Given the description of an element on the screen output the (x, y) to click on. 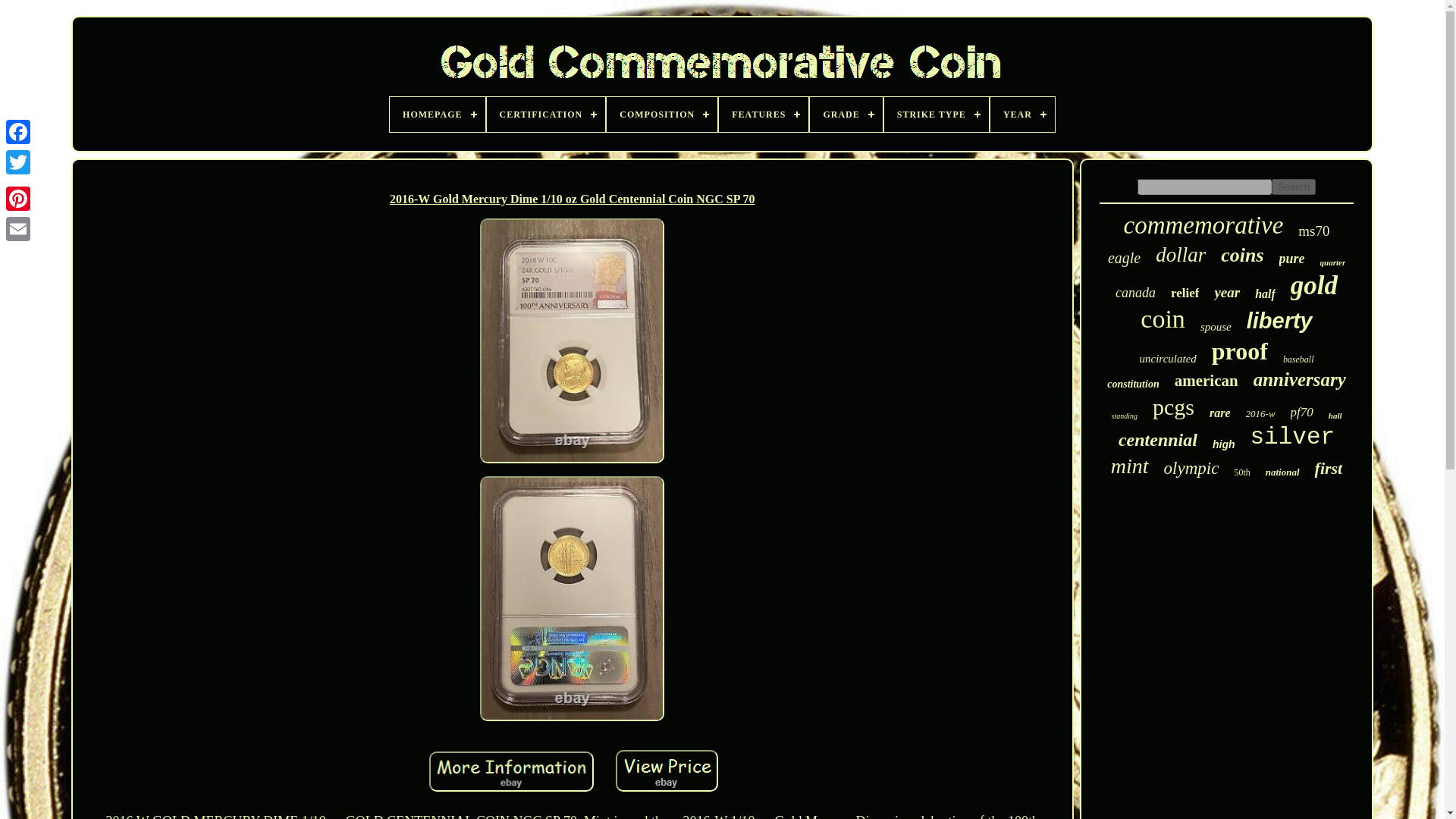
Search (1293, 186)
HOMEPAGE (437, 114)
CERTIFICATION (545, 114)
Twitter (17, 162)
COMPOSITION (662, 114)
